Given the description of an element on the screen output the (x, y) to click on. 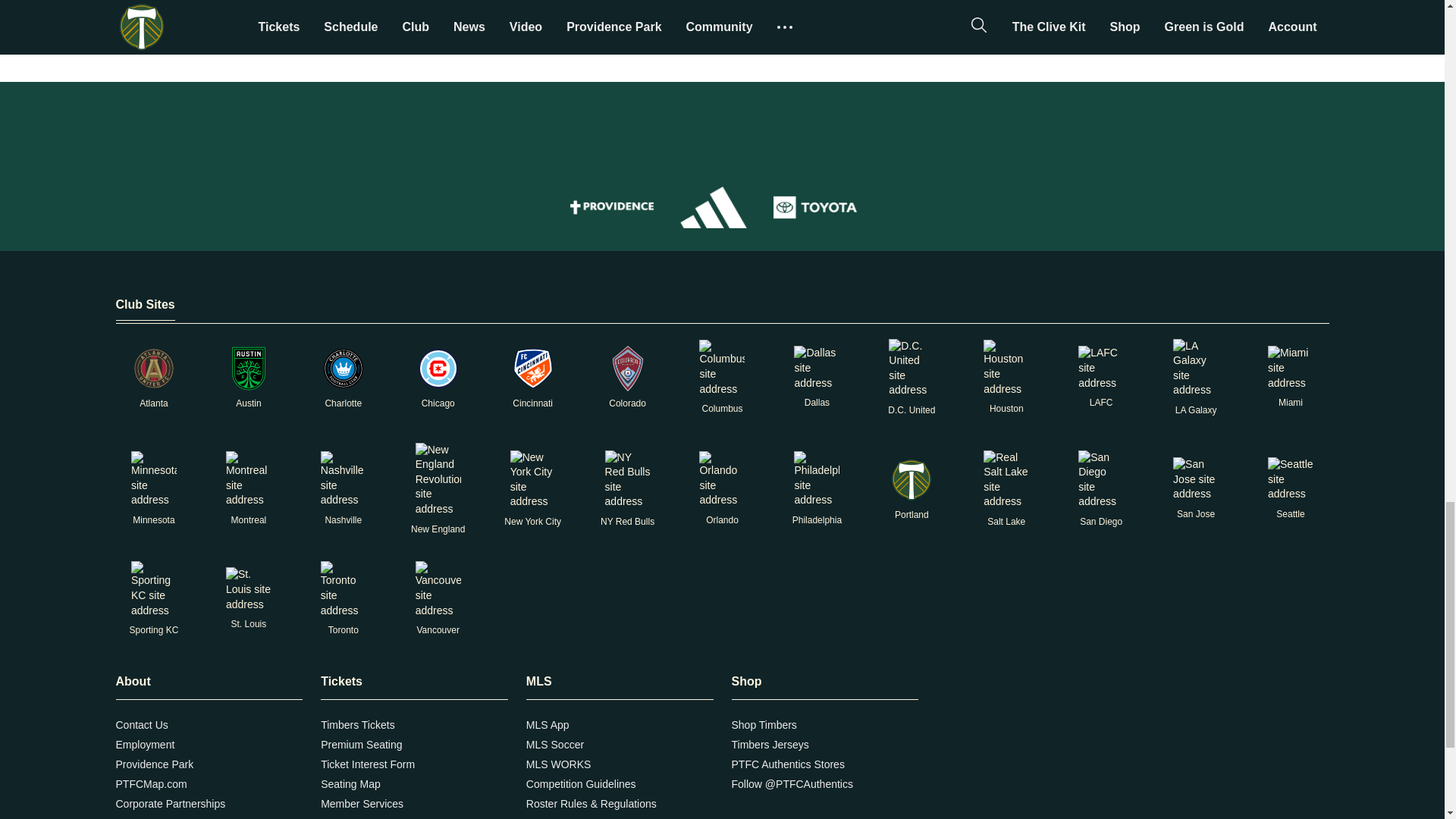
Link to Charlotte (343, 368)
Link to Austin (247, 368)
Link to Atlanta (153, 368)
